Given the description of an element on the screen output the (x, y) to click on. 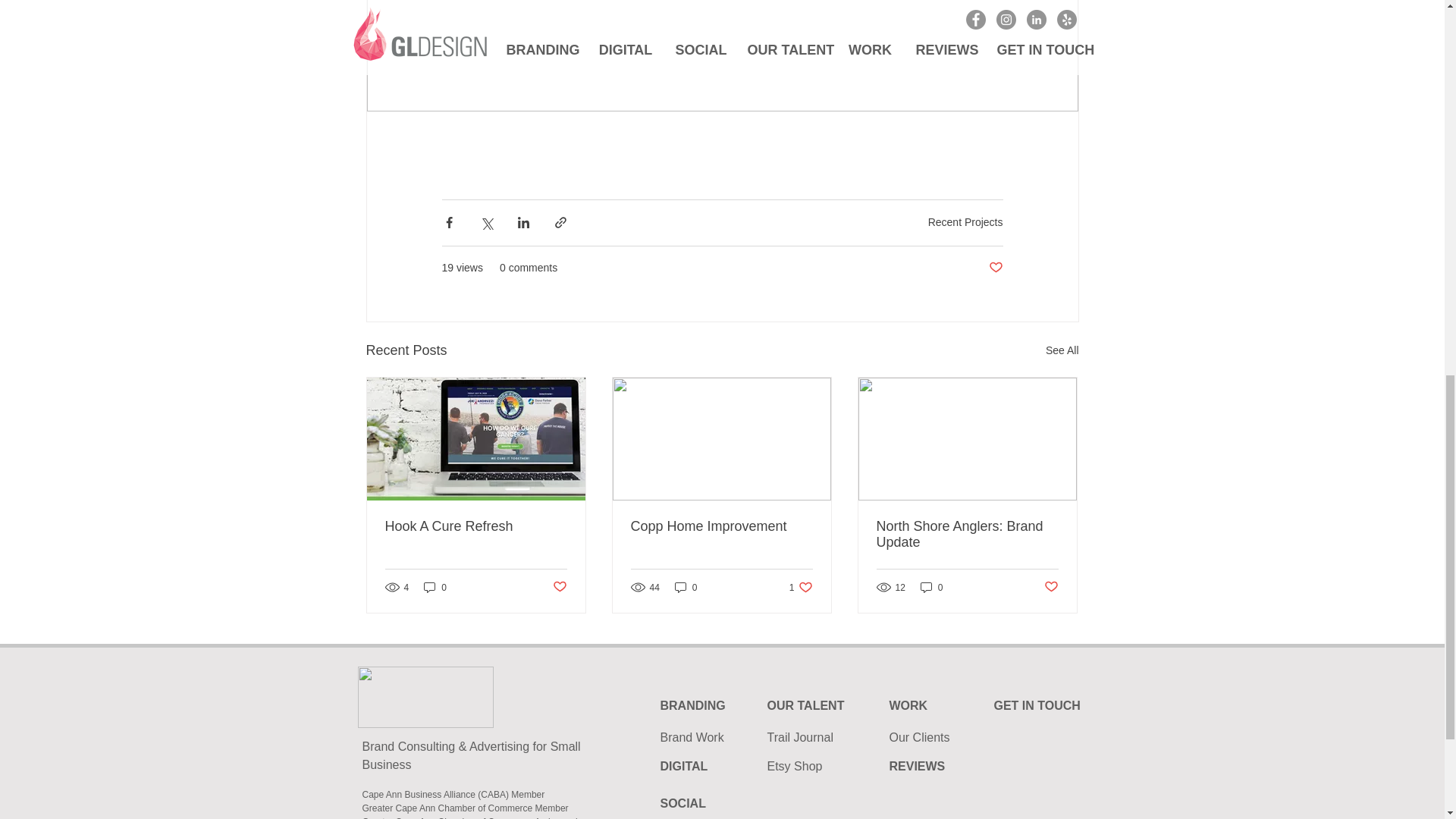
Recent Projects (965, 222)
Hook A Cure Refresh (476, 526)
North Shore Anglers: Brand Update (967, 534)
0 (800, 586)
Post not marked as liked (685, 586)
0 (1050, 587)
See All (931, 586)
Post not marked as liked (1061, 350)
Greater Cape (558, 587)
Post not marked as liked (390, 808)
Copp Home Improvement (995, 268)
0 (721, 526)
